Given the description of an element on the screen output the (x, y) to click on. 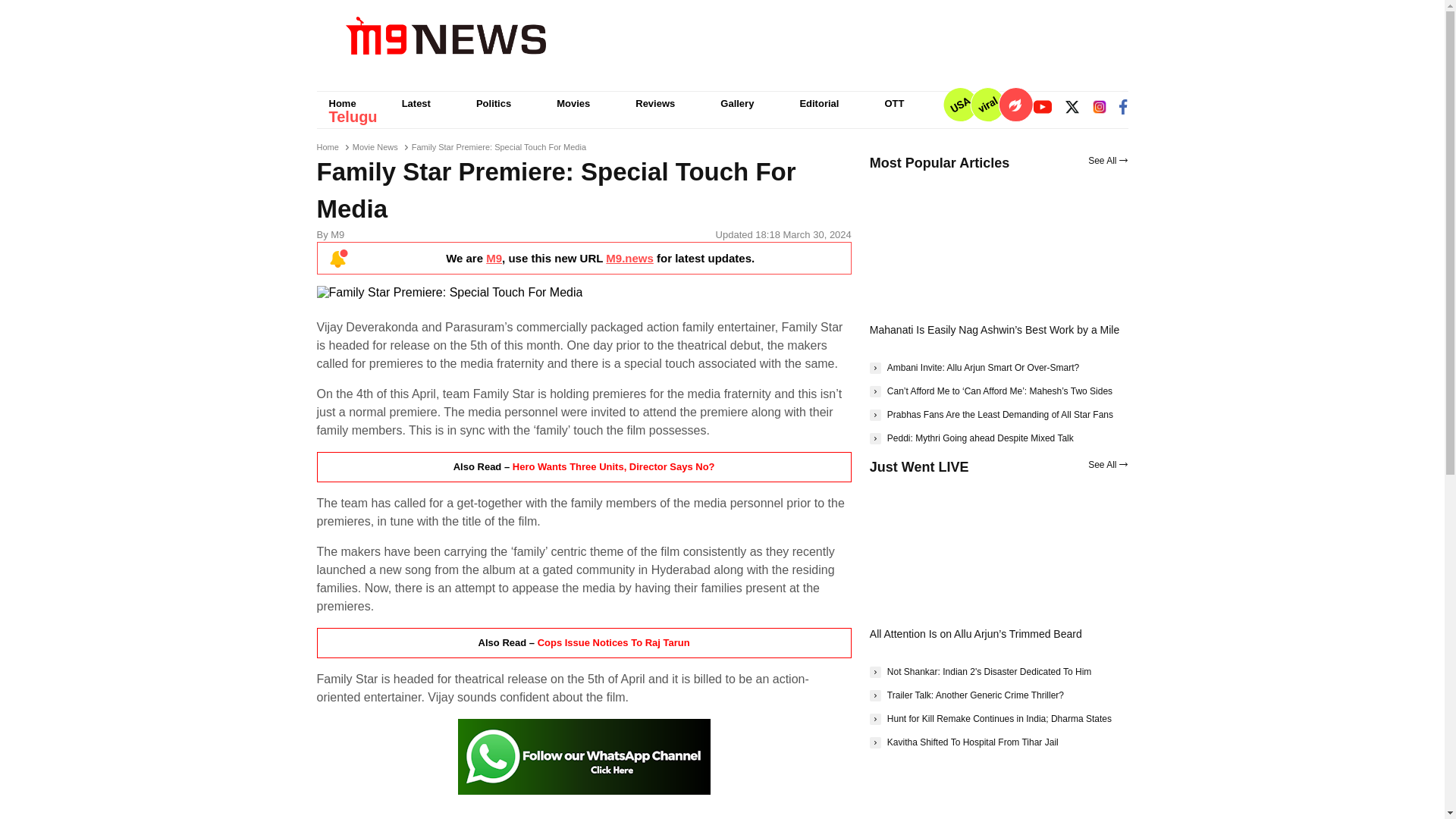
Home (328, 146)
Latest (416, 102)
OTT (893, 102)
Gallery (736, 102)
Movie News (374, 146)
Home (342, 102)
M9 (494, 257)
Movies (573, 102)
See All (1106, 160)
Editorial (818, 102)
M9.news (629, 257)
Telugu (353, 116)
Politics (493, 102)
Reviews (655, 102)
